Given the description of an element on the screen output the (x, y) to click on. 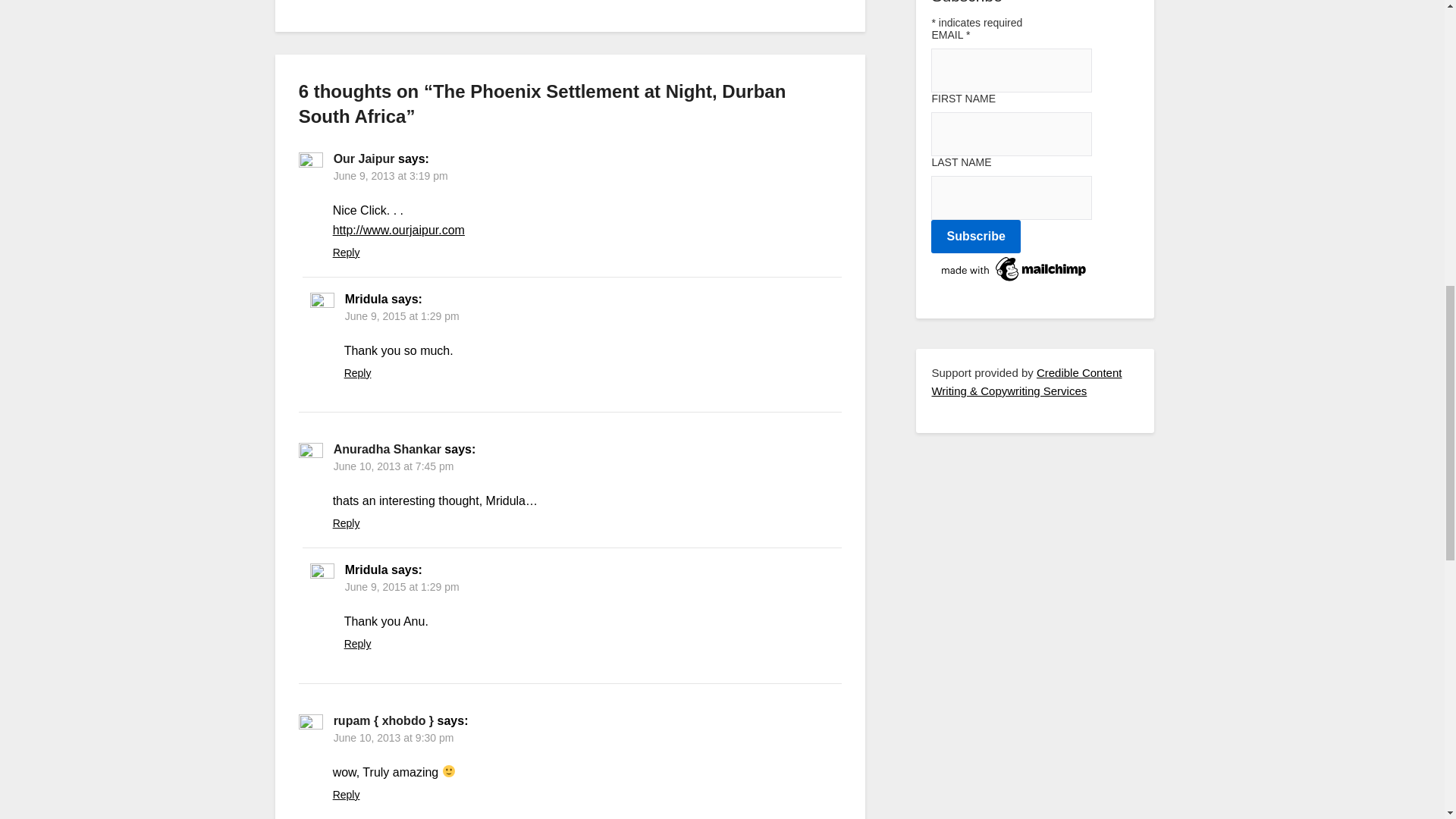
Anuradha Shankar (387, 449)
June 9, 2013 at 3:19 pm (390, 175)
Reply (357, 372)
Subscribe (975, 236)
Subscribe (975, 236)
June 9, 2015 at 1:29 pm (402, 316)
Reply (357, 644)
June 10, 2013 at 7:45 pm (393, 466)
Reply (346, 252)
Reply (346, 794)
Mailchimp - email marketing made easy and fun (1014, 280)
Reply (346, 522)
June 10, 2013 at 9:30 pm (393, 737)
June 9, 2015 at 1:29 pm (402, 586)
Our Jaipur (363, 158)
